Given the description of an element on the screen output the (x, y) to click on. 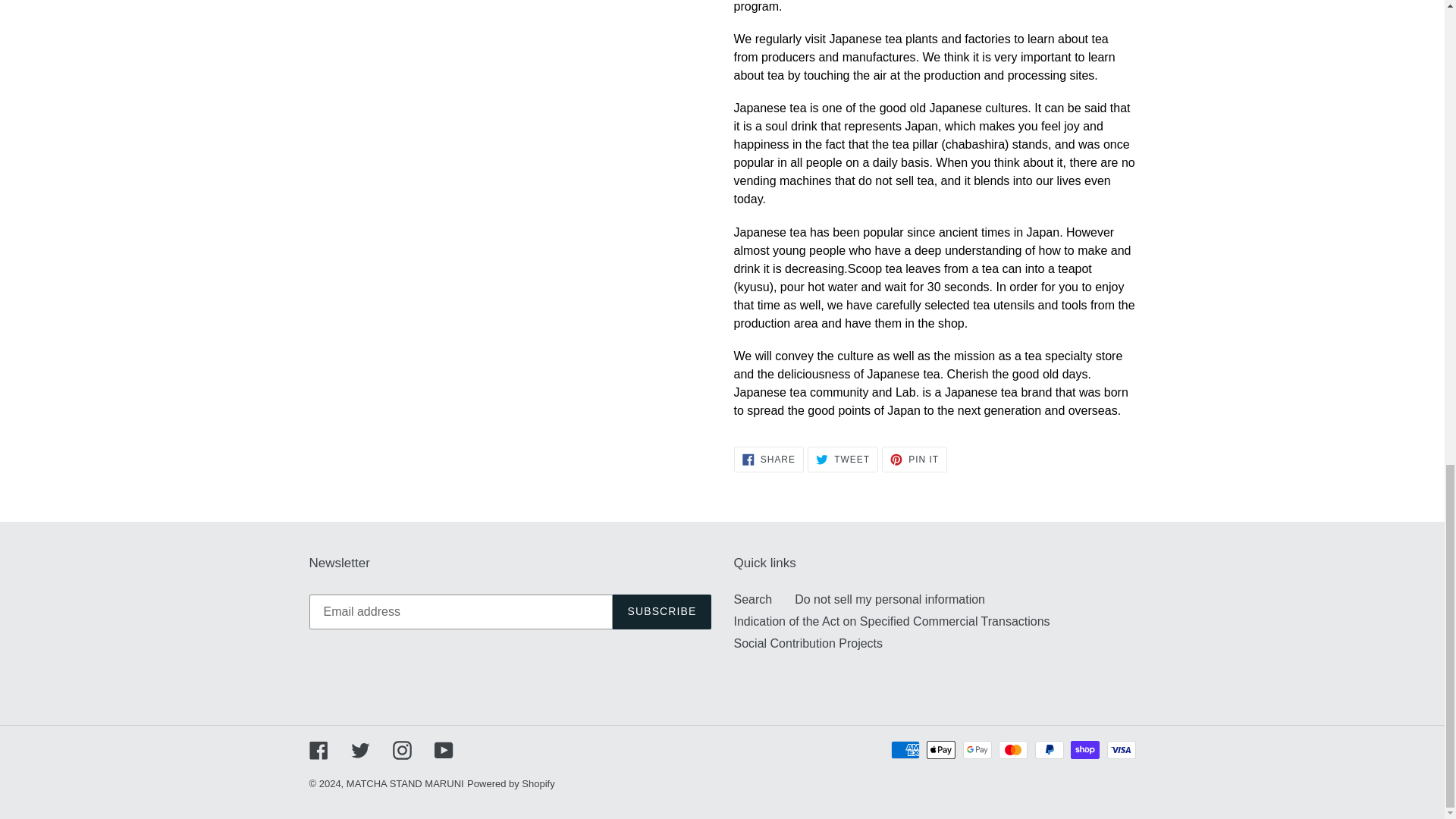
SUBSCRIBE (768, 459)
Search (661, 611)
Do not sell my personal information (914, 459)
